Given the description of an element on the screen output the (x, y) to click on. 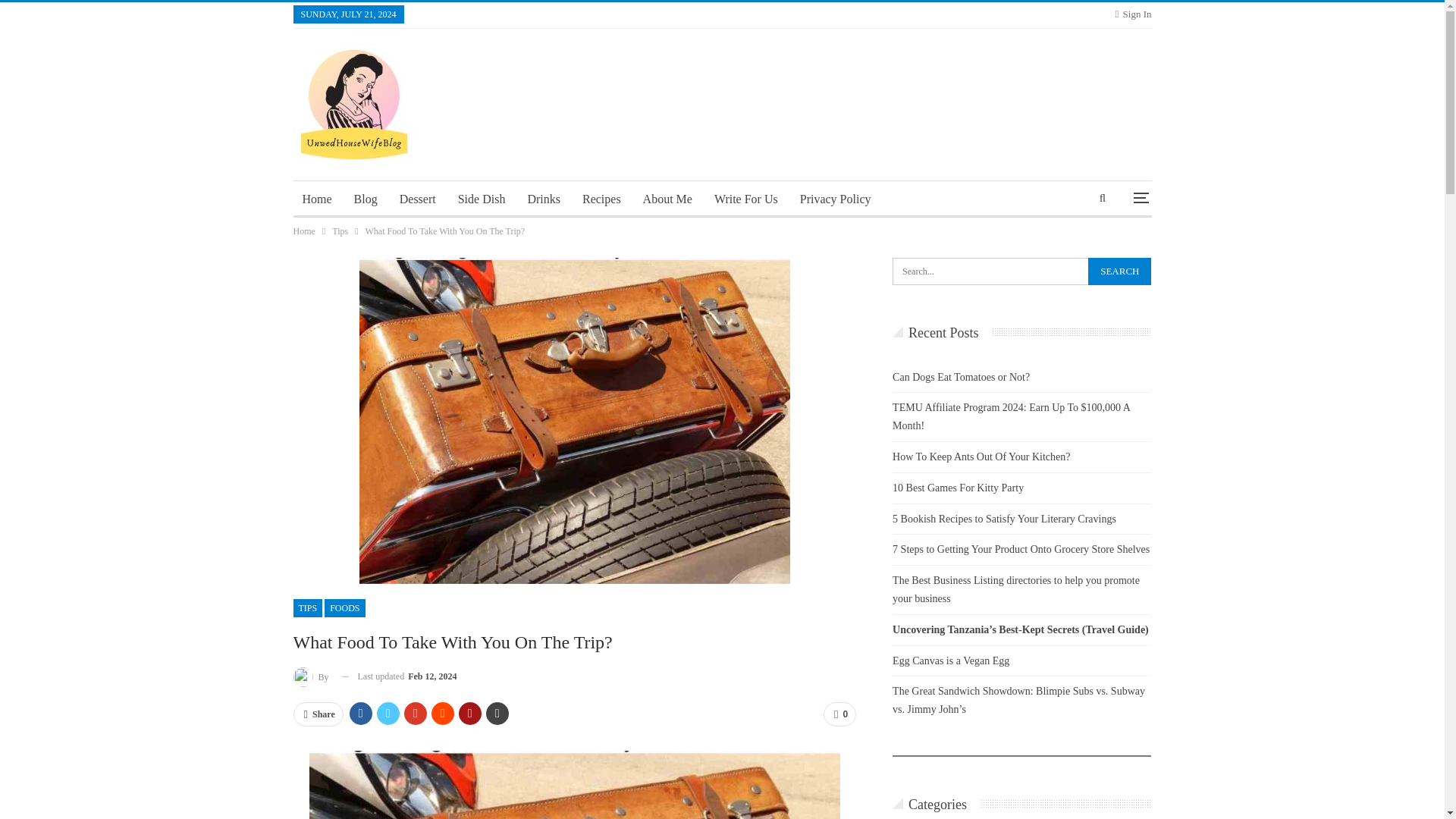
Drinks (543, 198)
Browse Author Articles (311, 676)
Side Dish (481, 198)
About Me (667, 198)
Search (1119, 271)
0 (840, 713)
Search (1119, 271)
Search for: (1021, 271)
Write For Us (745, 198)
Privacy Policy (835, 198)
Tips (339, 230)
Dessert (417, 198)
FOODS (344, 607)
TIPS (306, 607)
Blog (366, 198)
